Given the description of an element on the screen output the (x, y) to click on. 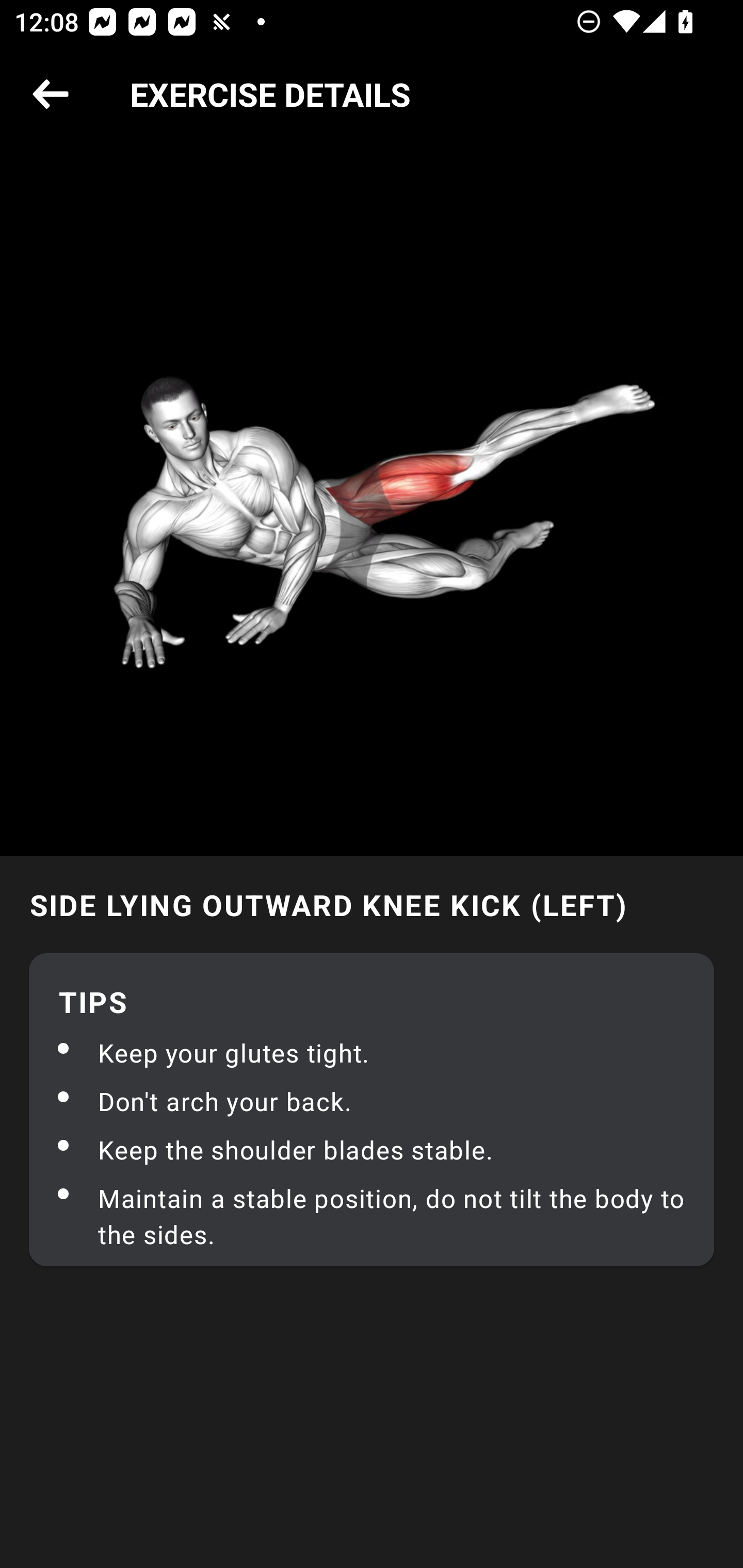
Back Icon (50, 94)
